Given the description of an element on the screen output the (x, y) to click on. 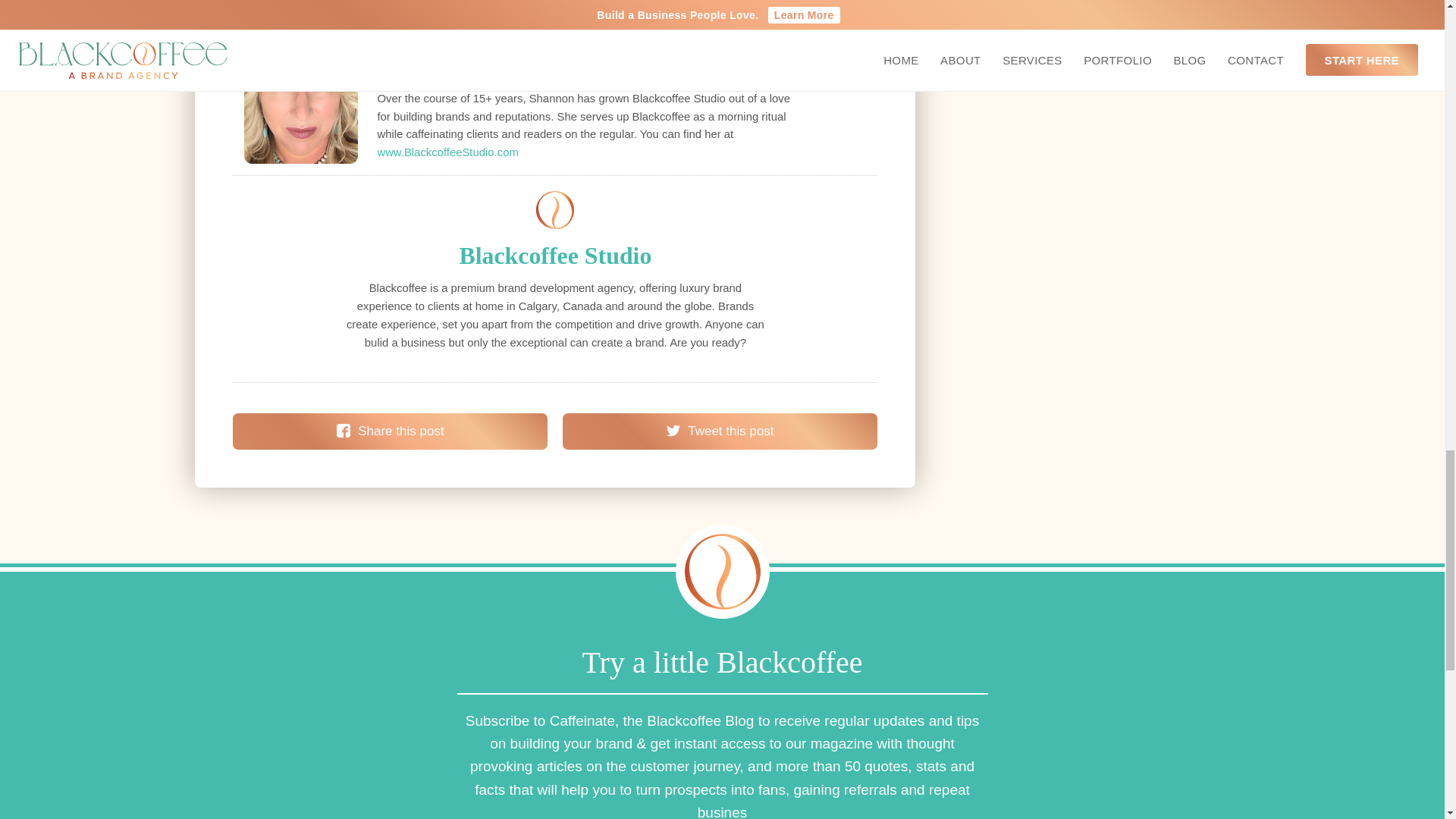
Tweet this post (719, 430)
Share this post (389, 430)
www.BlackcoffeeStudio.com (447, 152)
